Given the description of an element on the screen output the (x, y) to click on. 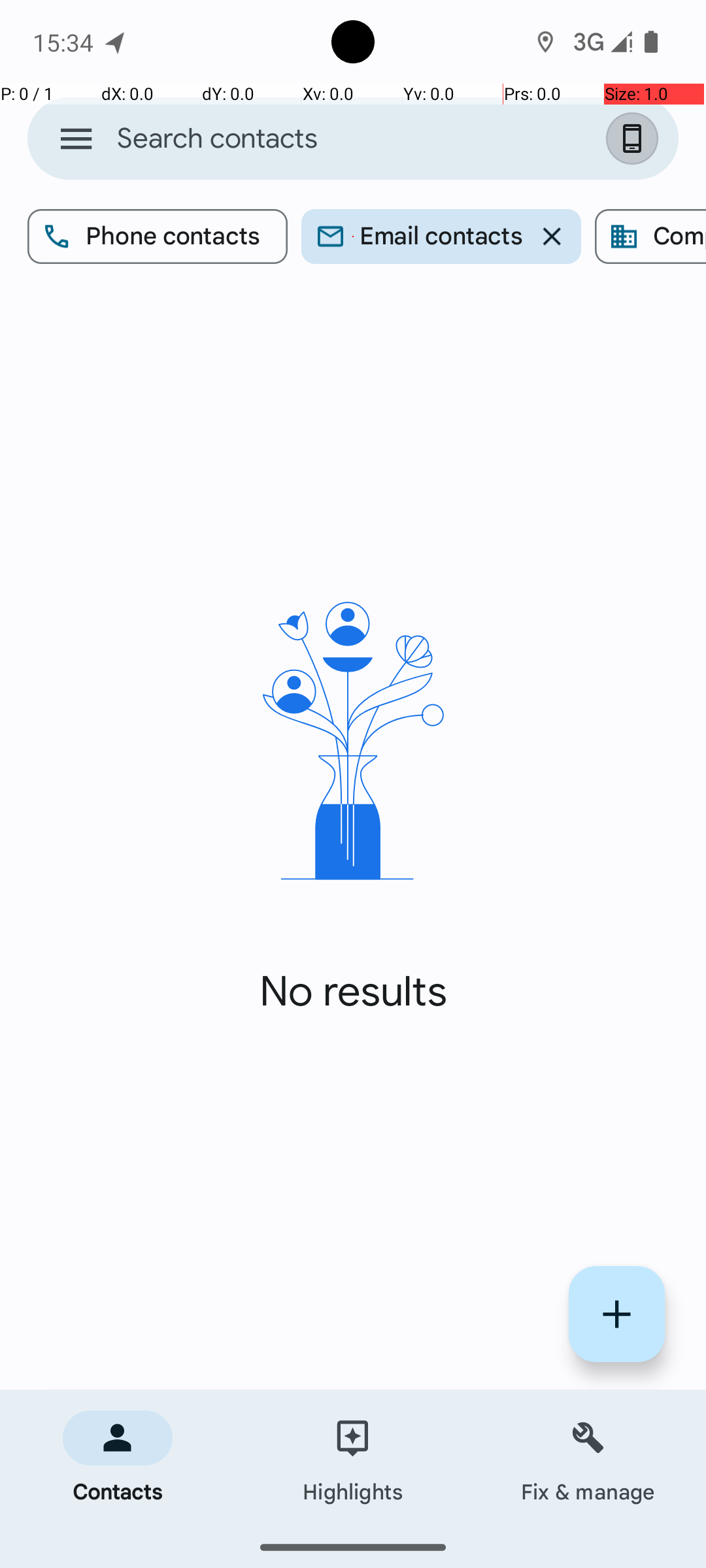
Highlights Element type: android.widget.FrameLayout (352, 1457)
Fix & manage Element type: android.widget.FrameLayout (588, 1457)
Open navigation drawer Element type: android.widget.ImageButton (75, 138)
Signed in as Device
Account and settings. Element type: android.widget.FrameLayout (634, 138)
No results Element type: android.widget.TextView (353, 991)
Phone contacts Element type: android.widget.Button (157, 236)
Email contacts Element type: android.widget.Button (441, 236)
